Given the description of an element on the screen output the (x, y) to click on. 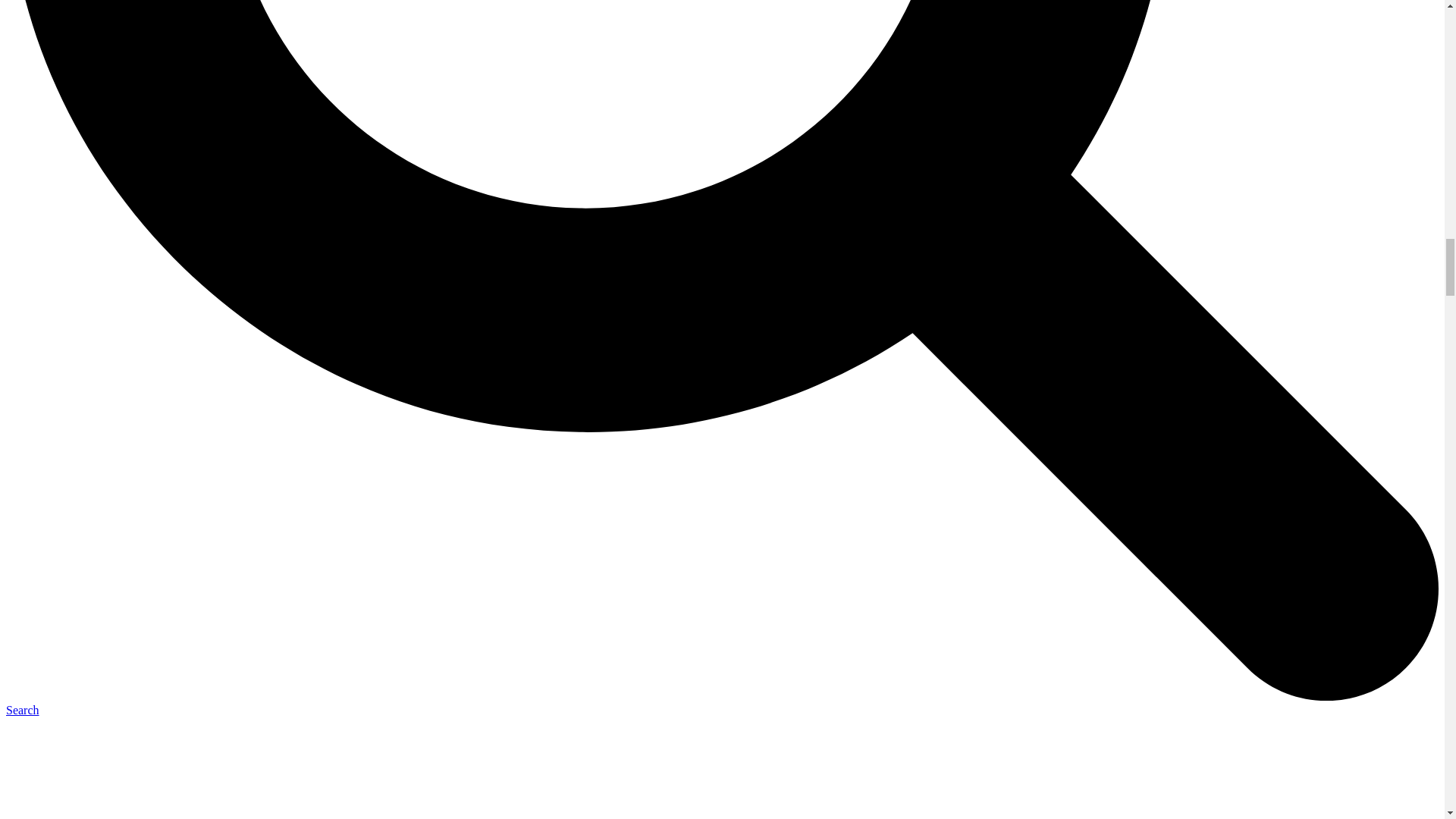
Search (22, 709)
